Given the description of an element on the screen output the (x, y) to click on. 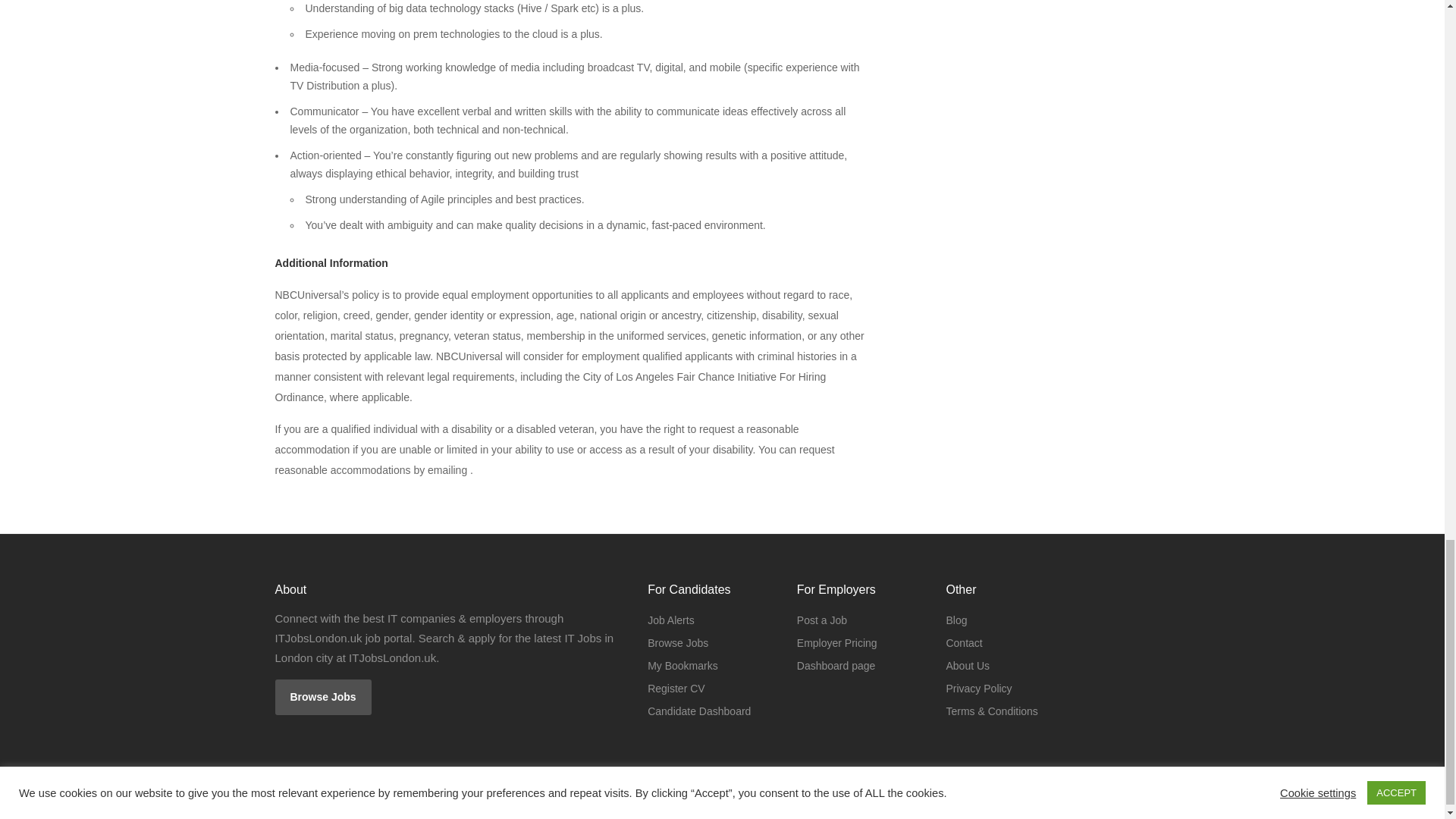
Privacy Policy (977, 688)
About Us (967, 665)
Candidate Dashboard (699, 711)
Post a Job (821, 619)
Browse Jobs (677, 642)
Dashboard page (836, 665)
Blog (955, 619)
Contact (962, 642)
Employer Pricing (836, 642)
My Bookmarks (682, 665)
